Given the description of an element on the screen output the (x, y) to click on. 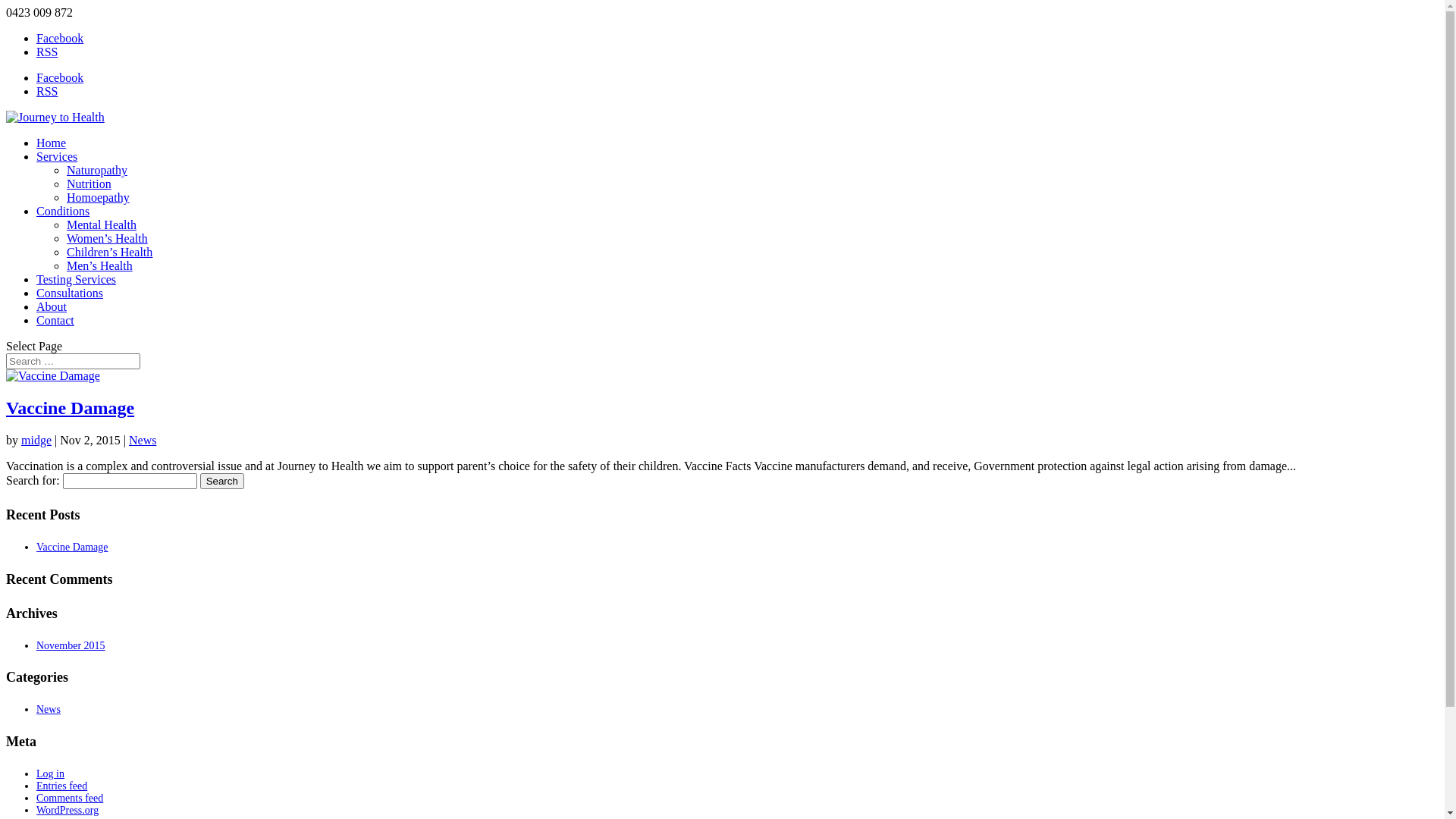
Entries feed Element type: text (61, 785)
Search for: Element type: hover (73, 361)
WordPress.org Element type: text (67, 809)
Homoepathy Element type: text (97, 197)
Vaccine Damage Element type: text (70, 407)
RSS Element type: text (46, 51)
midge Element type: text (36, 439)
November 2015 Element type: text (70, 645)
Testing Services Element type: text (76, 279)
Conditions Element type: text (62, 210)
Facebook Element type: text (59, 77)
News Element type: text (142, 439)
Contact Element type: text (55, 319)
Consultations Element type: text (69, 292)
News Element type: text (48, 709)
Naturopathy Element type: text (96, 169)
Home Element type: text (50, 142)
Comments feed Element type: text (69, 797)
RSS Element type: text (46, 90)
Search Element type: text (222, 481)
Mental Health Element type: text (101, 224)
Nutrition Element type: text (88, 183)
Log in Element type: text (50, 773)
About Element type: text (51, 306)
Vaccine Damage Element type: text (71, 546)
Services Element type: text (56, 156)
Facebook Element type: text (59, 37)
